Given the description of an element on the screen output the (x, y) to click on. 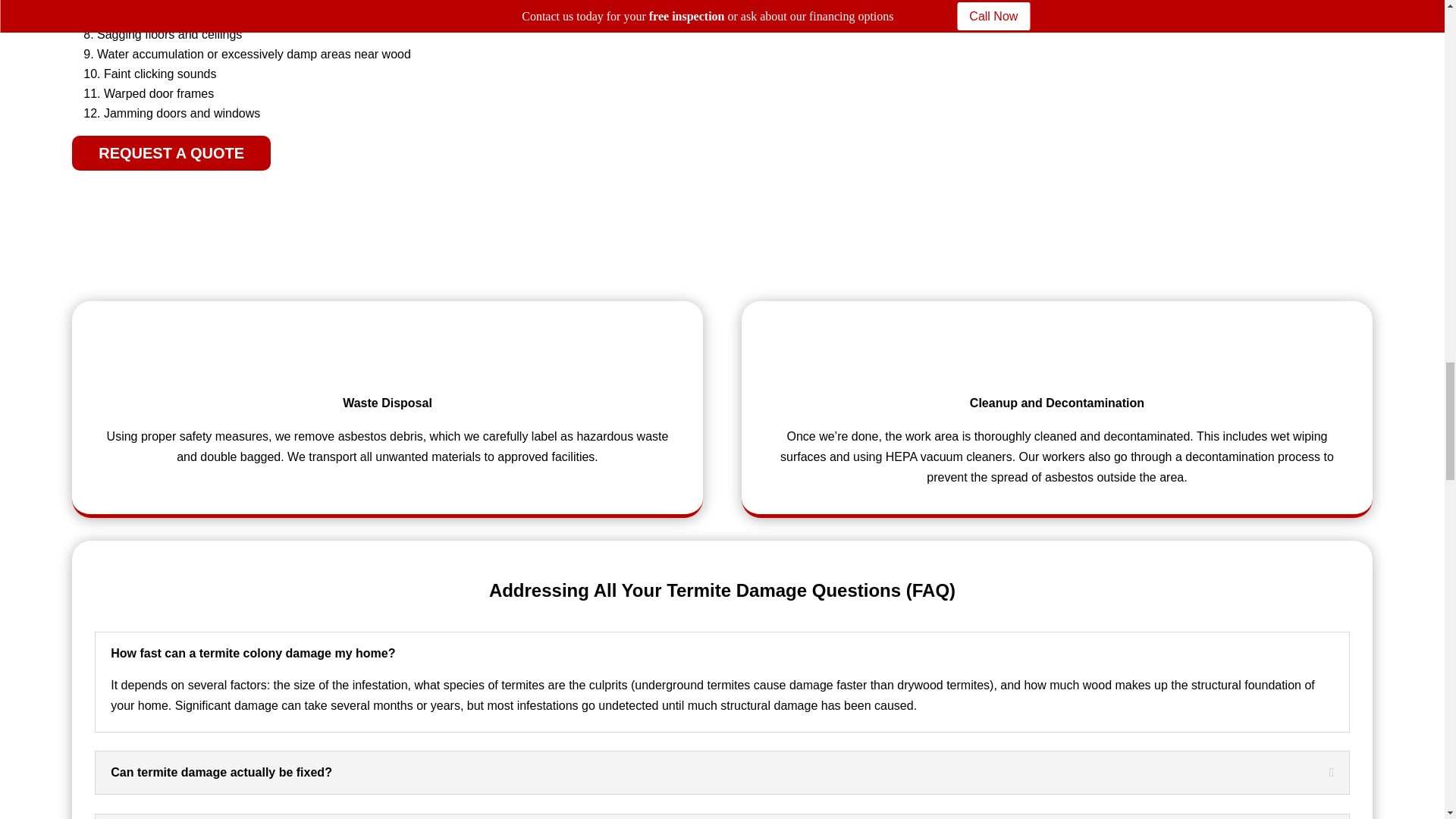
icono vapor (1056, 350)
icono vapor (387, 350)
